Given the description of an element on the screen output the (x, y) to click on. 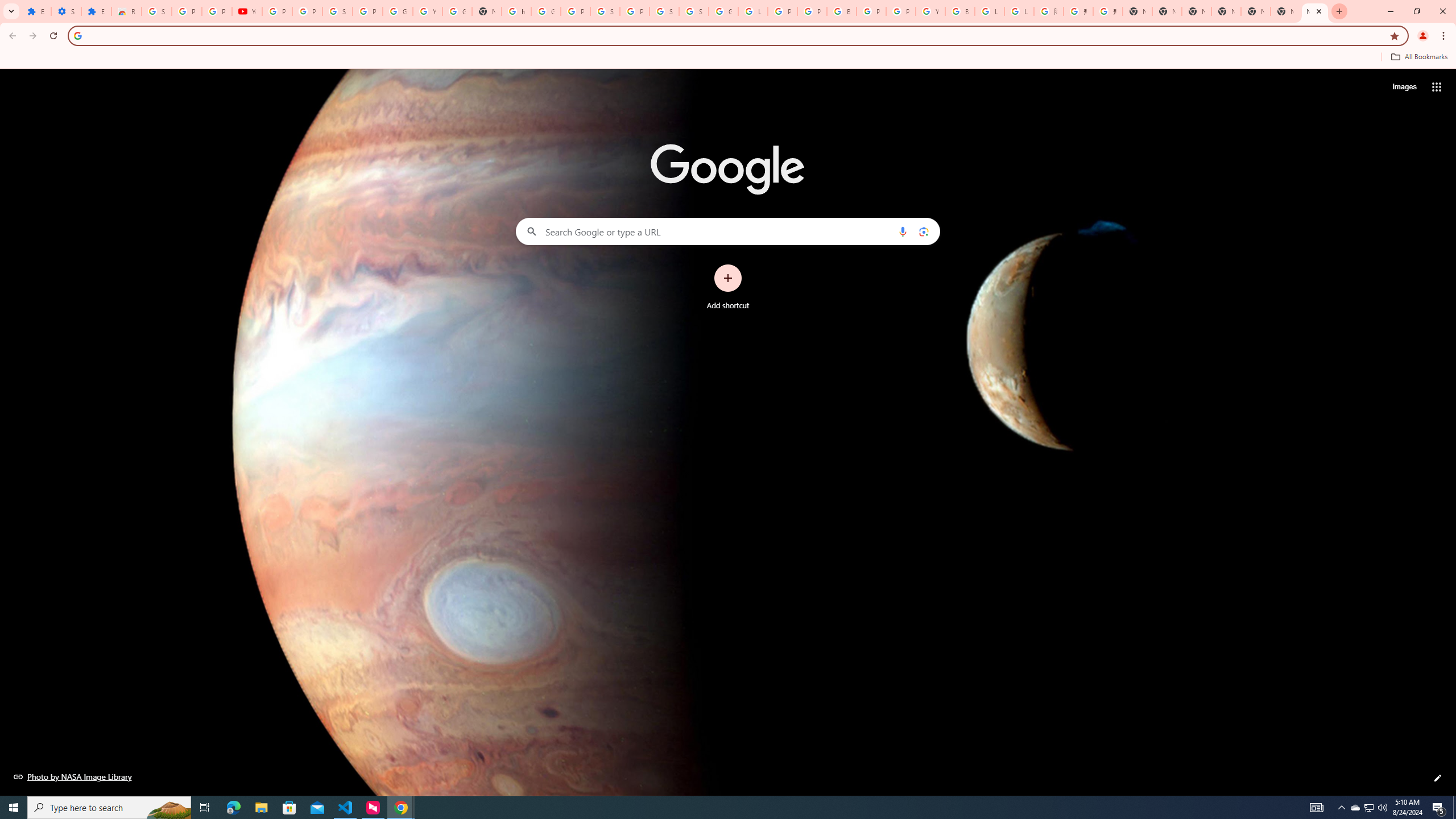
New Tab (1137, 11)
